Given the description of an element on the screen output the (x, y) to click on. 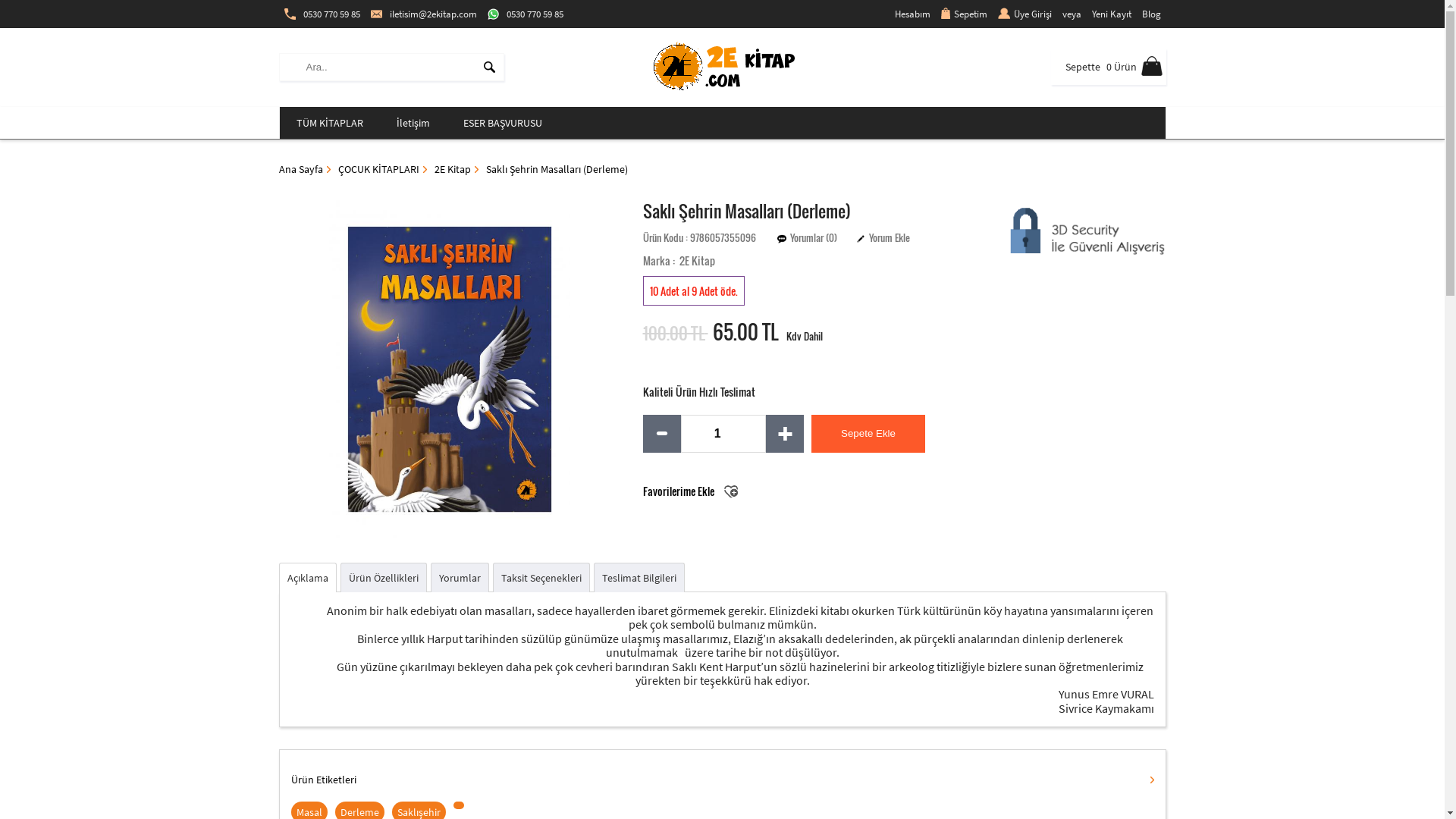
Ana Sayfa Element type: text (304, 168)
Sepete Ekle Element type: text (868, 433)
Yorum Ekle Element type: text (889, 237)
Yorumlar (0) Element type: text (813, 237)
Teslimat Bilgileri Element type: text (638, 577)
2E Kitap Element type: text (455, 168)
0530 770 59 85 Element type: text (322, 13)
Yorumlar Element type: text (459, 577)
Blog Element type: text (1150, 13)
0530 770 59 85 Element type: text (525, 13)
iletisim@2ekitap.com Element type: text (423, 13)
Favorilerime Ekle Element type: text (690, 490)
Sepetim Element type: text (963, 13)
